Given the description of an element on the screen output the (x, y) to click on. 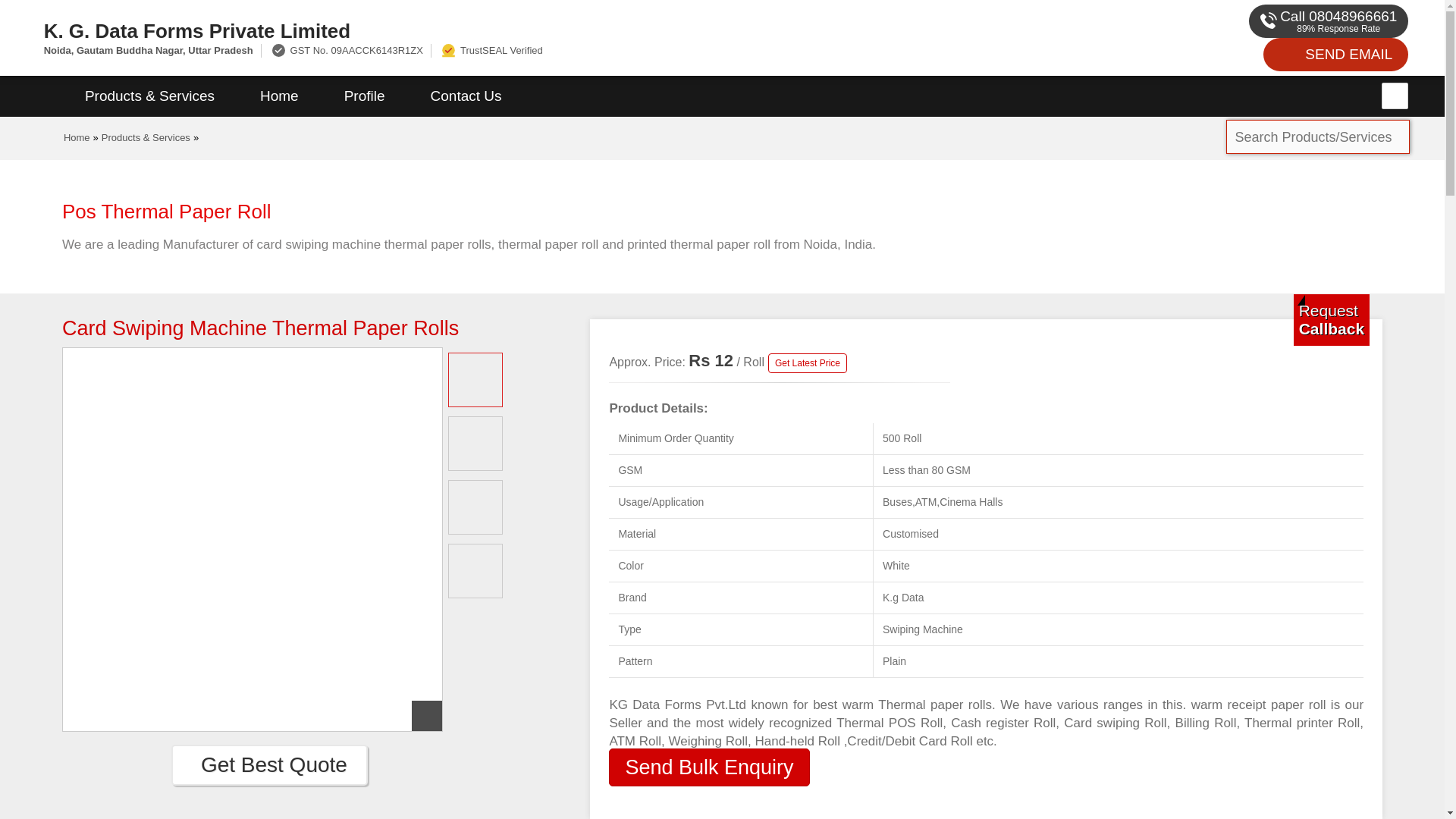
Get a Call from us (1332, 319)
Contact Us (465, 96)
K. G. Data Forms Private Limited (480, 31)
Home (77, 137)
Profile (364, 96)
Home (279, 96)
